Given the description of an element on the screen output the (x, y) to click on. 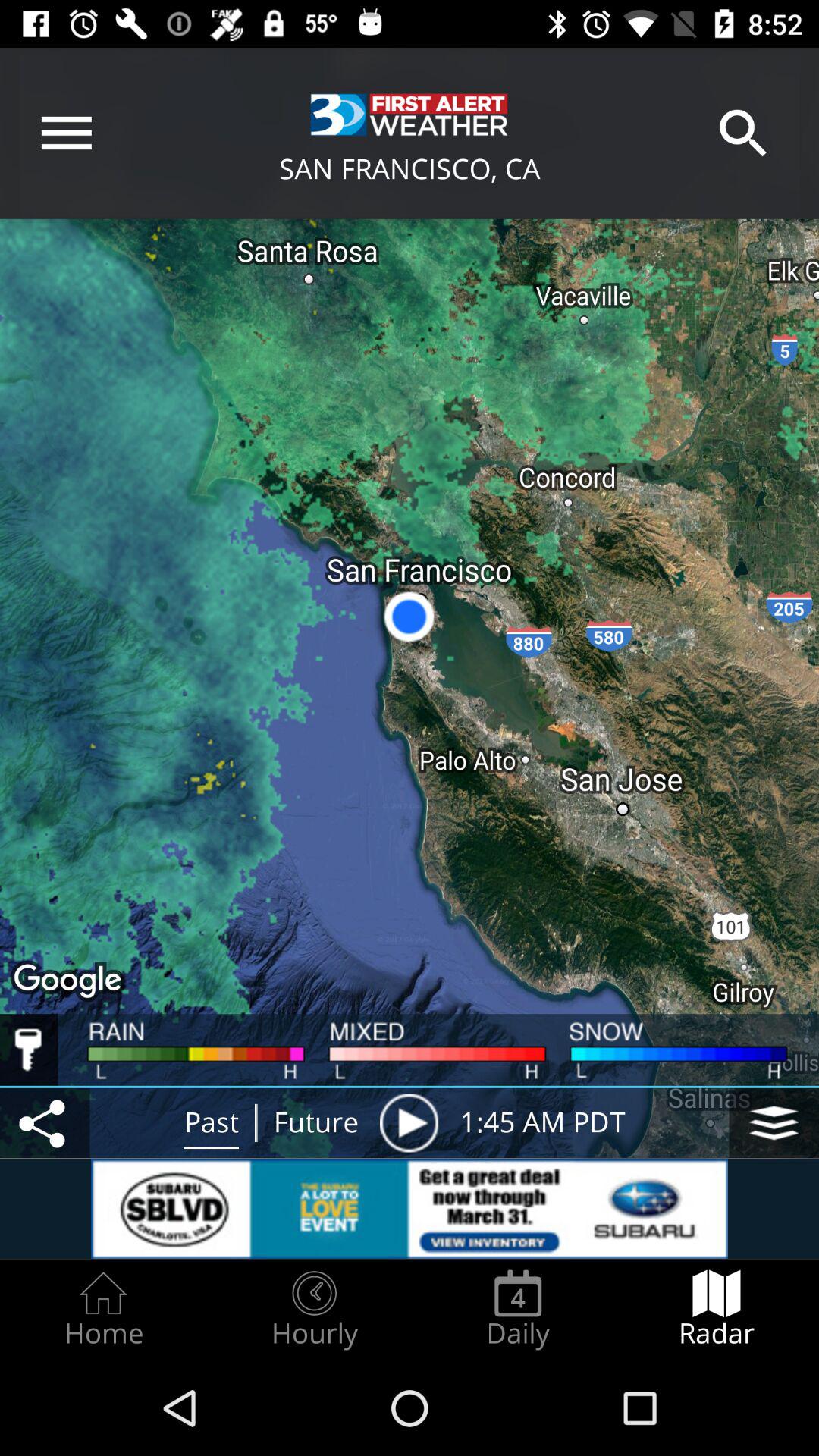
se (409, 1122)
